Given the description of an element on the screen output the (x, y) to click on. 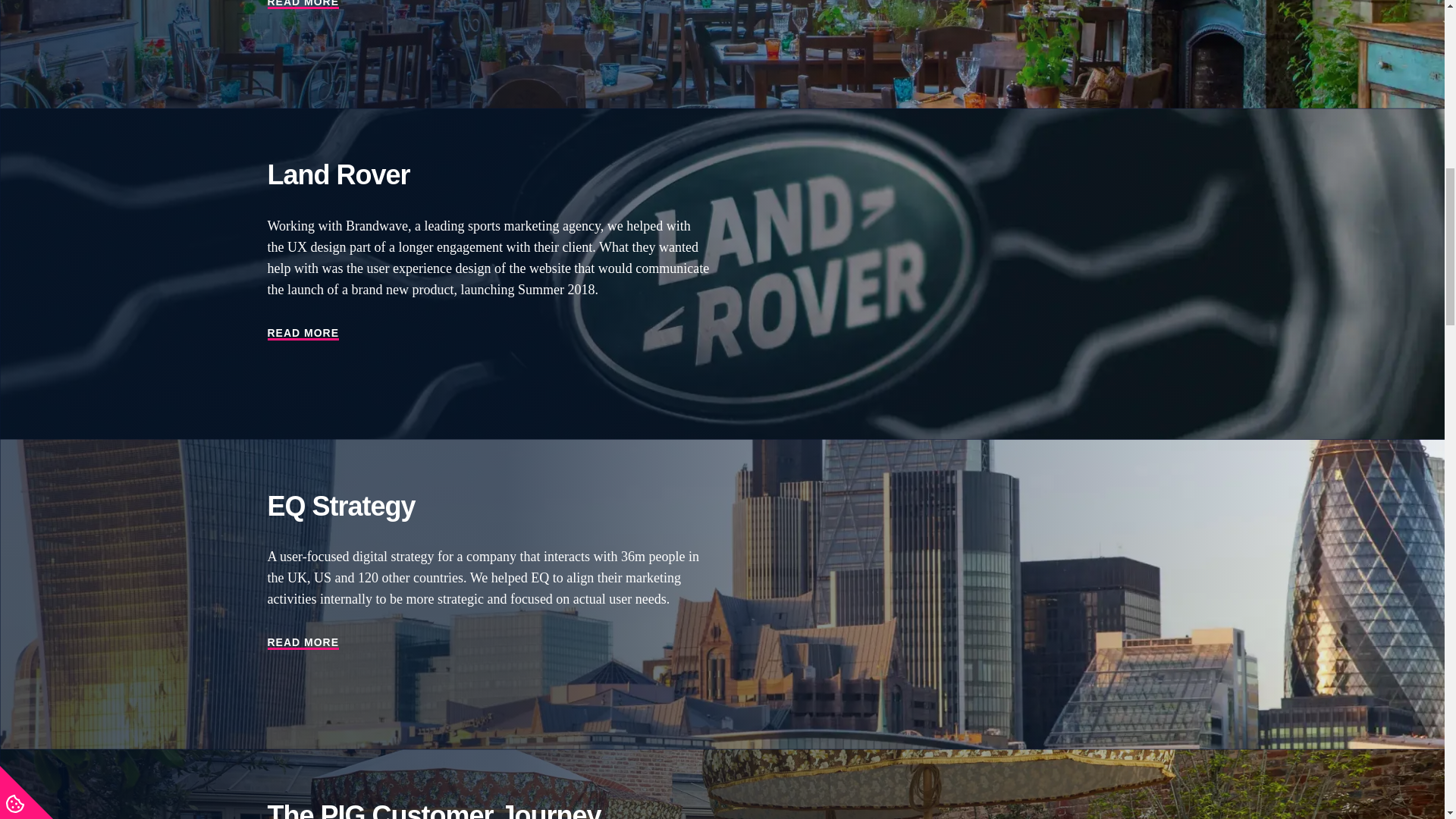
READ MORE (302, 643)
READ MORE (302, 4)
READ MORE (302, 333)
